Given the description of an element on the screen output the (x, y) to click on. 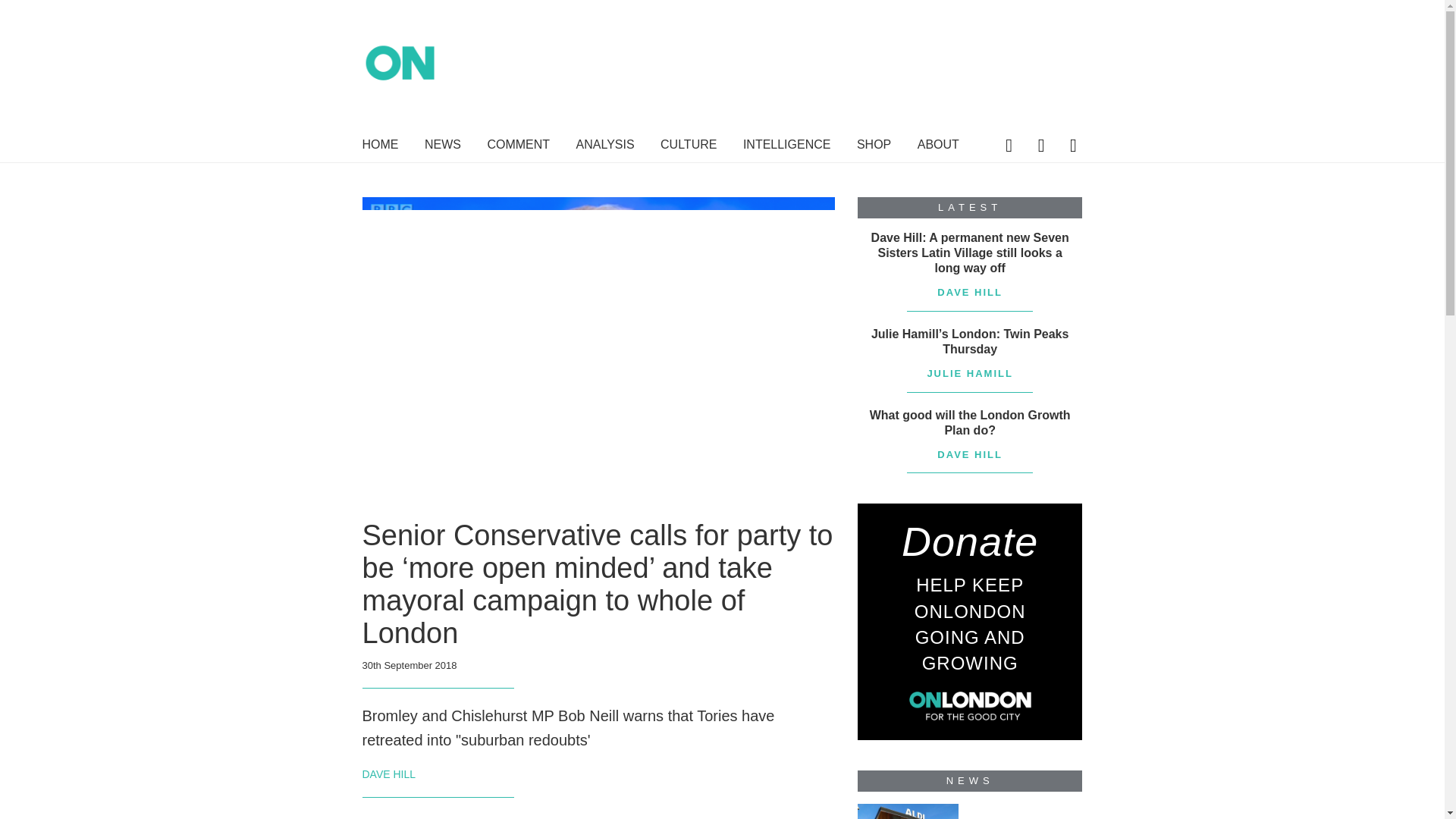
SHOP (874, 147)
ANALYSIS (605, 147)
ABOUT (938, 147)
DAVE HILL (389, 774)
Aldi and Lidl top London supermarket pay rate league (907, 811)
HOME (380, 147)
INTELLIGENCE (786, 147)
COMMENT (518, 147)
CULTURE (688, 147)
NEWS (443, 147)
